Given the description of an element on the screen output the (x, y) to click on. 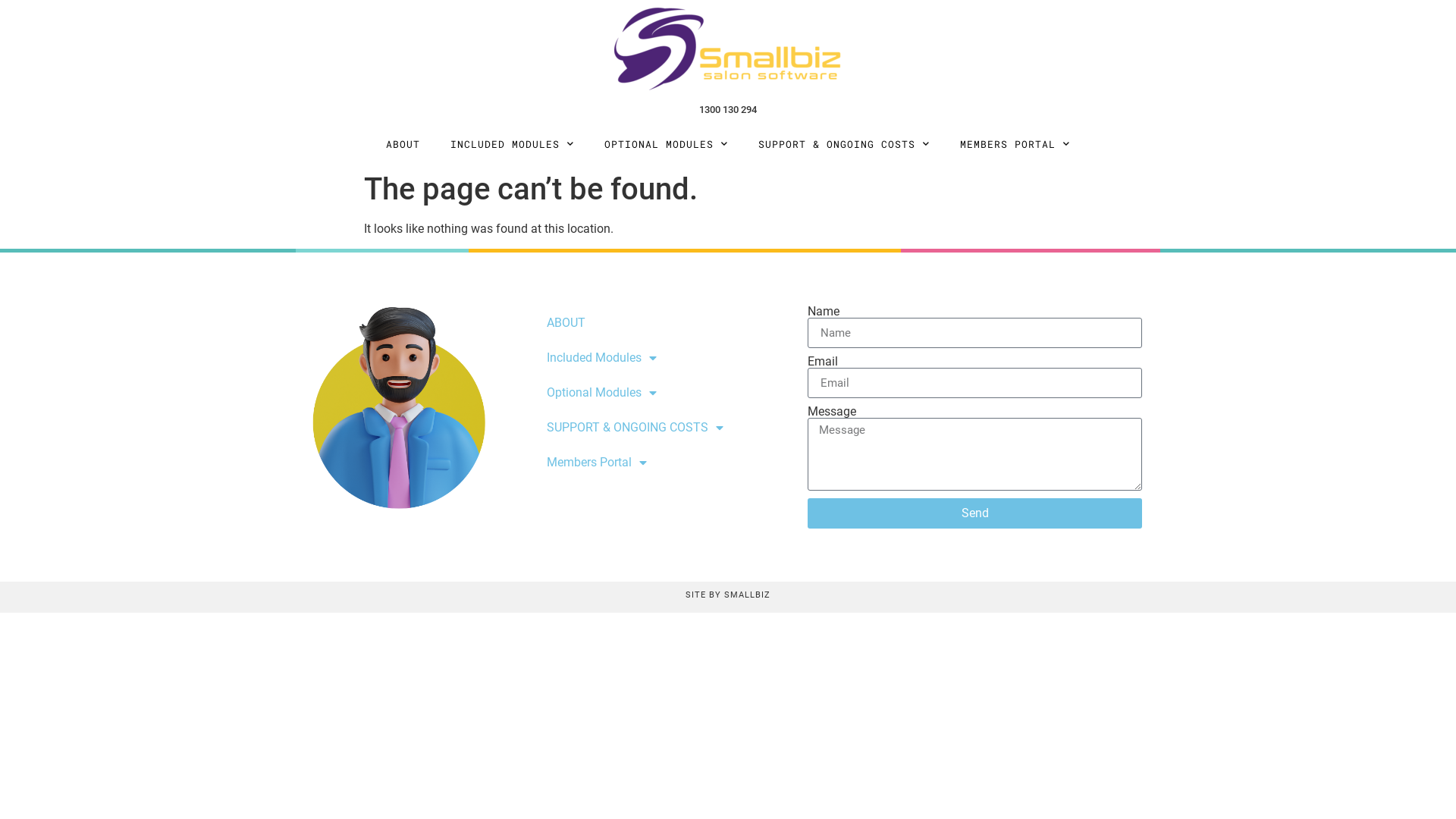
Included Modules Element type: text (661, 357)
Members Portal Element type: text (661, 462)
INCLUDED MODULES Element type: text (512, 143)
MEMBERS PORTAL Element type: text (1014, 143)
Send Element type: text (974, 513)
Optional Modules Element type: text (661, 392)
OPTIONAL MODULES Element type: text (666, 143)
SUPPORT & ONGOING COSTS Element type: text (661, 427)
ABOUT Element type: text (661, 322)
SUPPORT & ONGOING COSTS Element type: text (843, 143)
ABOUT Element type: text (402, 143)
